Given the description of an element on the screen output the (x, y) to click on. 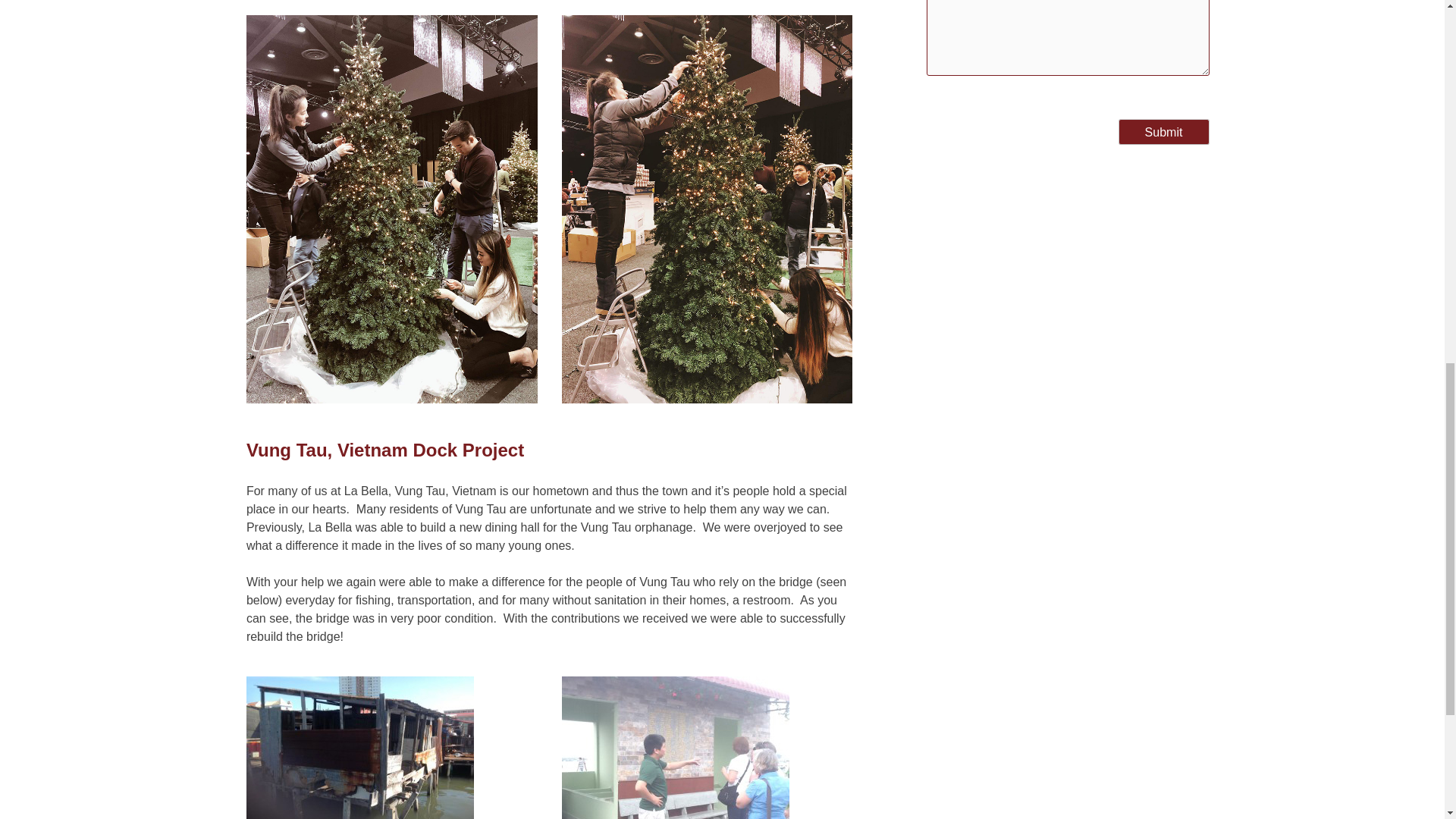
Submit (1163, 131)
Submit (1163, 131)
